Given the description of an element on the screen output the (x, y) to click on. 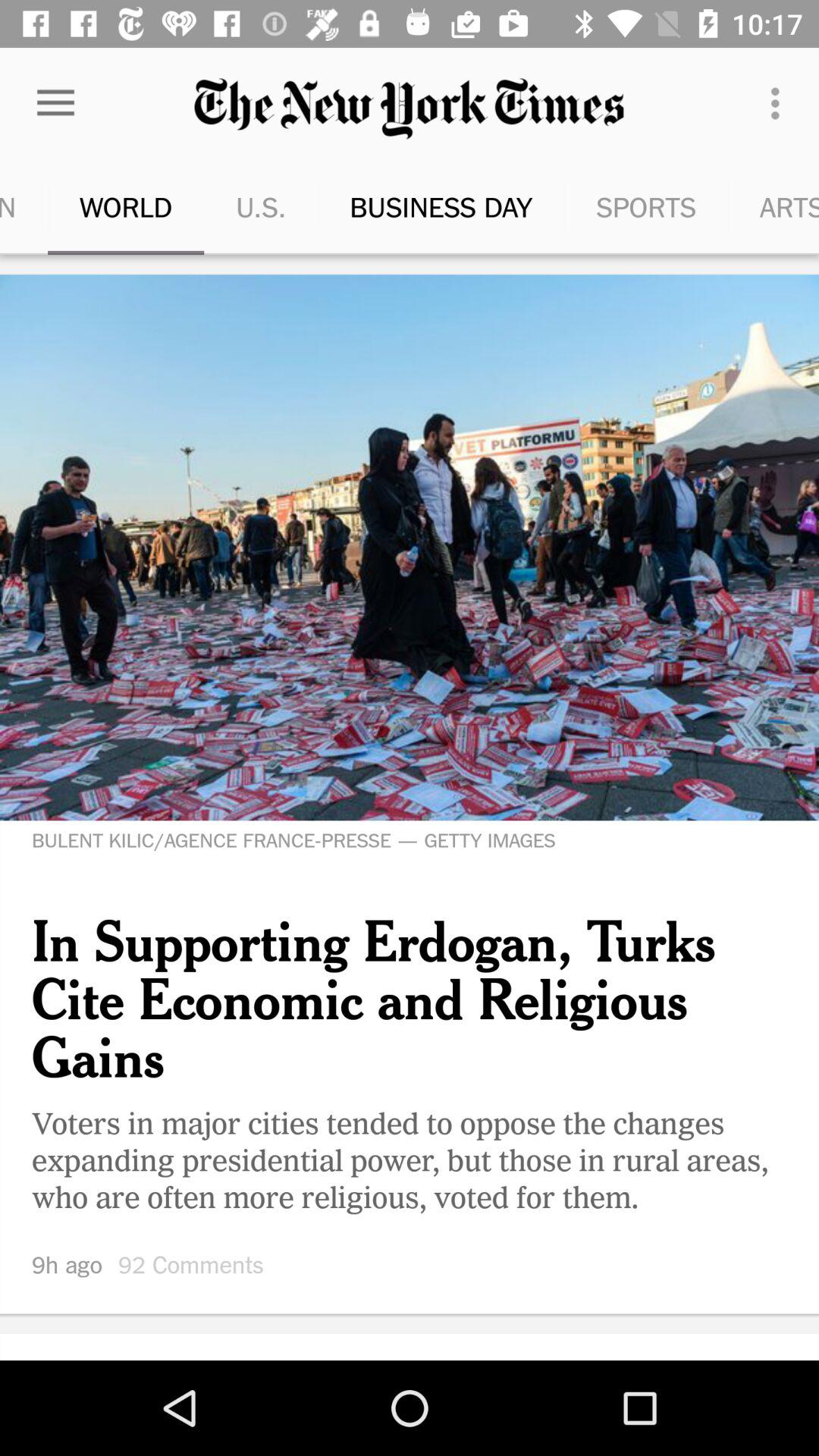
select the item to the right of business day item (607, 206)
